Given the description of an element on the screen output the (x, y) to click on. 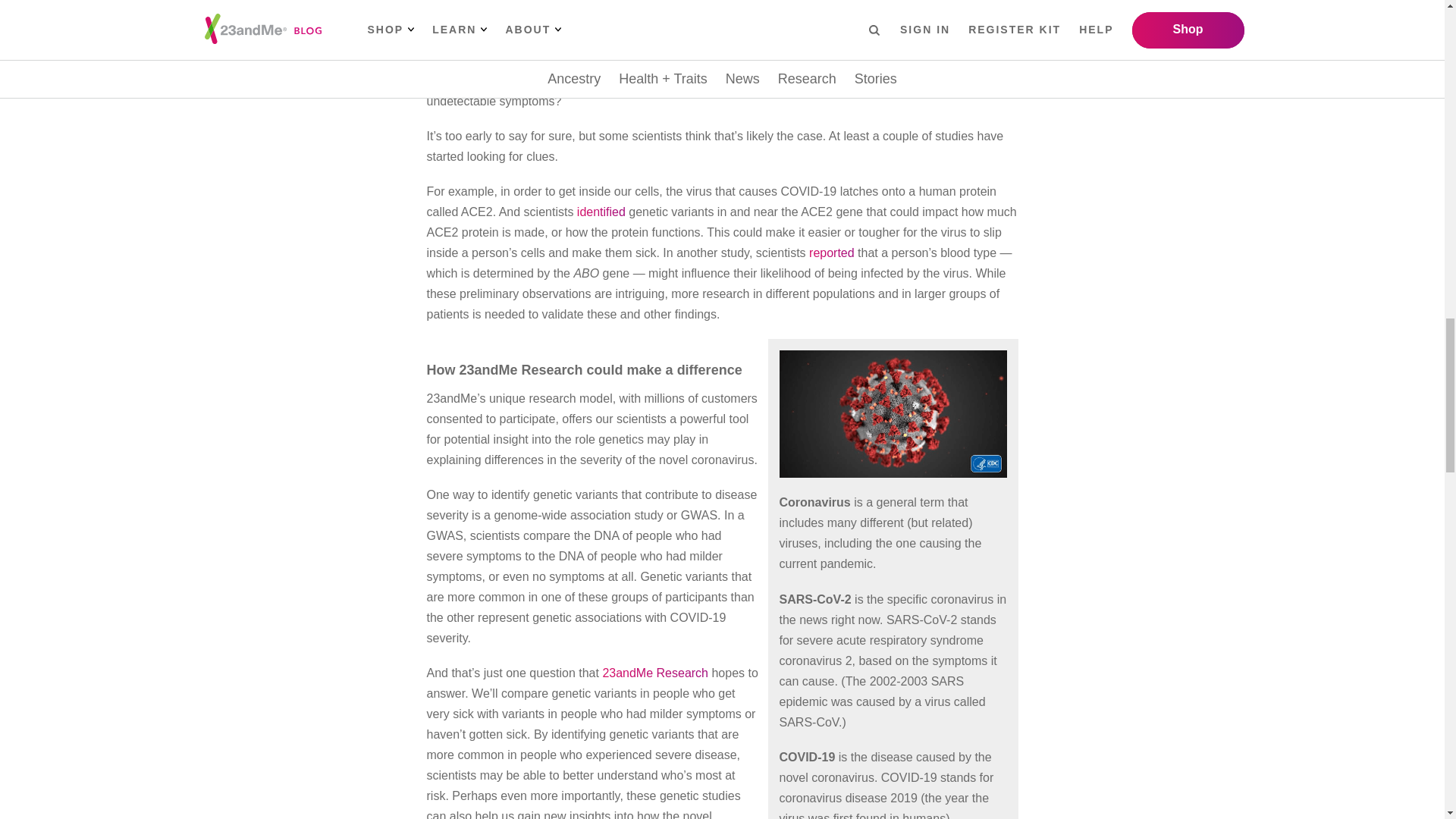
reported (831, 252)
identified (601, 211)
23andMe Research (654, 672)
